Given the description of an element on the screen output the (x, y) to click on. 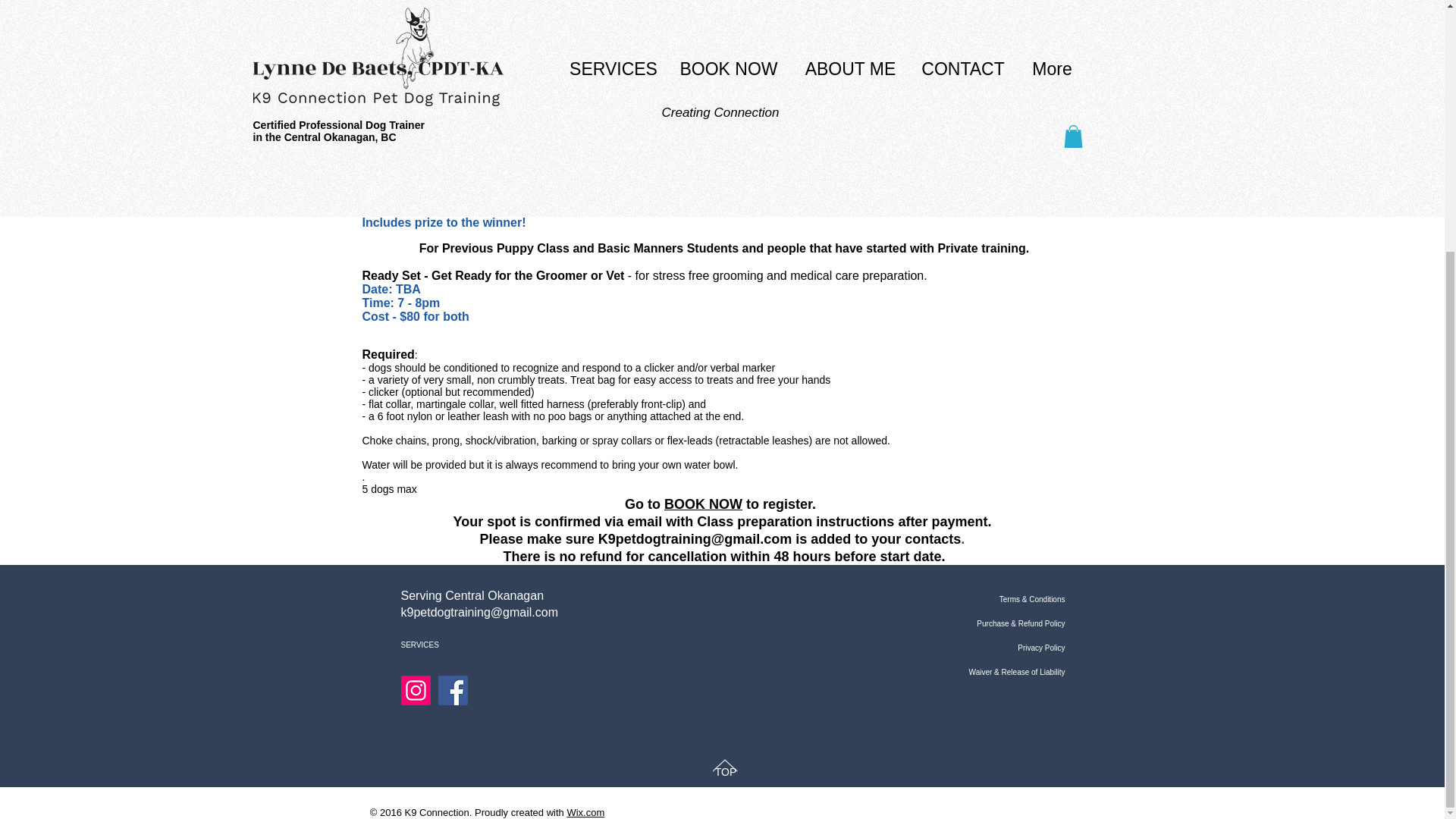
Wix.com (585, 812)
TOP (725, 771)
BOOK NOW (702, 503)
Privacy Policy (987, 648)
SERVICES (455, 645)
